Given the description of an element on the screen output the (x, y) to click on. 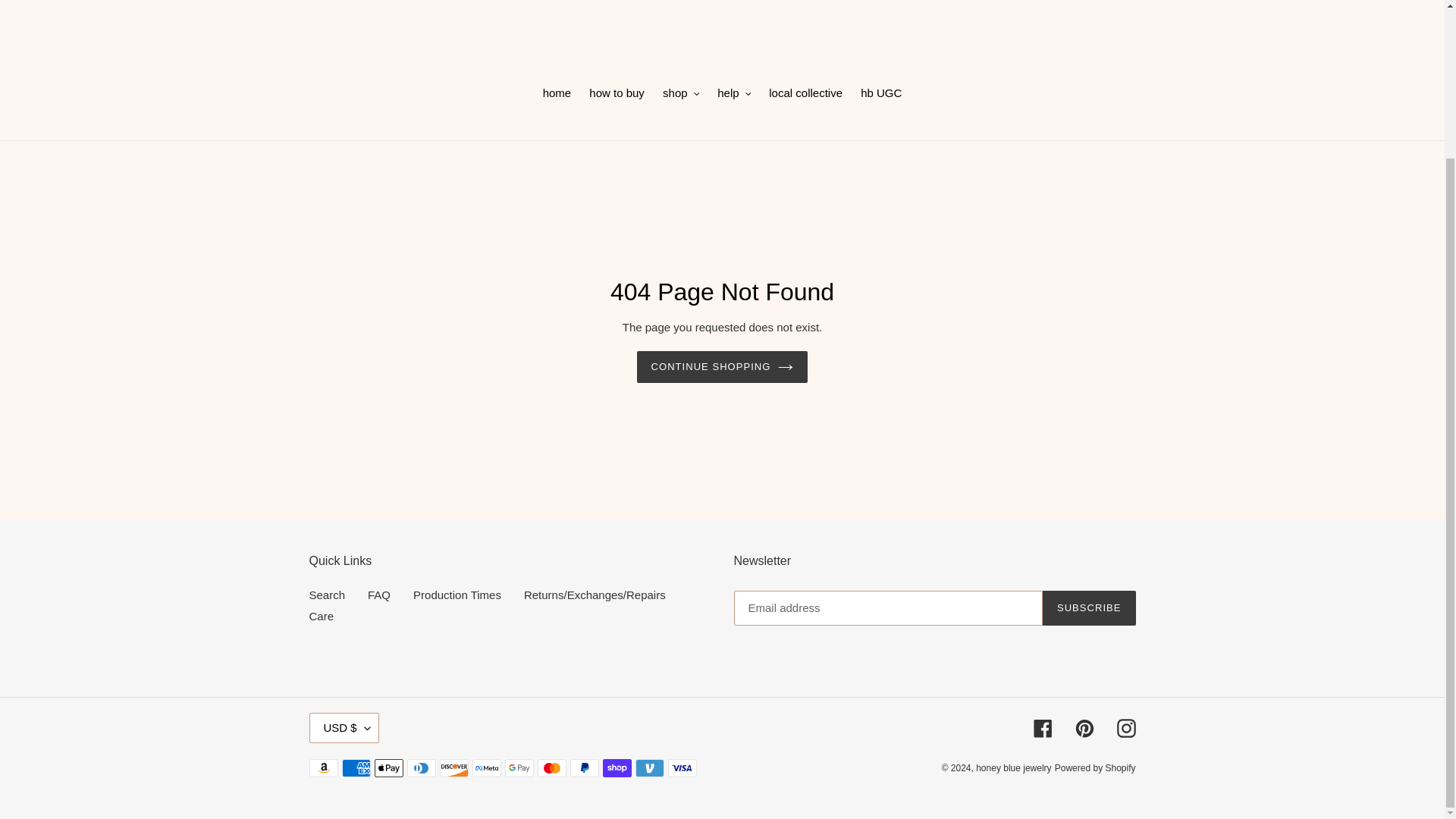
home (557, 94)
help (734, 94)
shop (680, 94)
how to buy (616, 94)
